Given the description of an element on the screen output the (x, y) to click on. 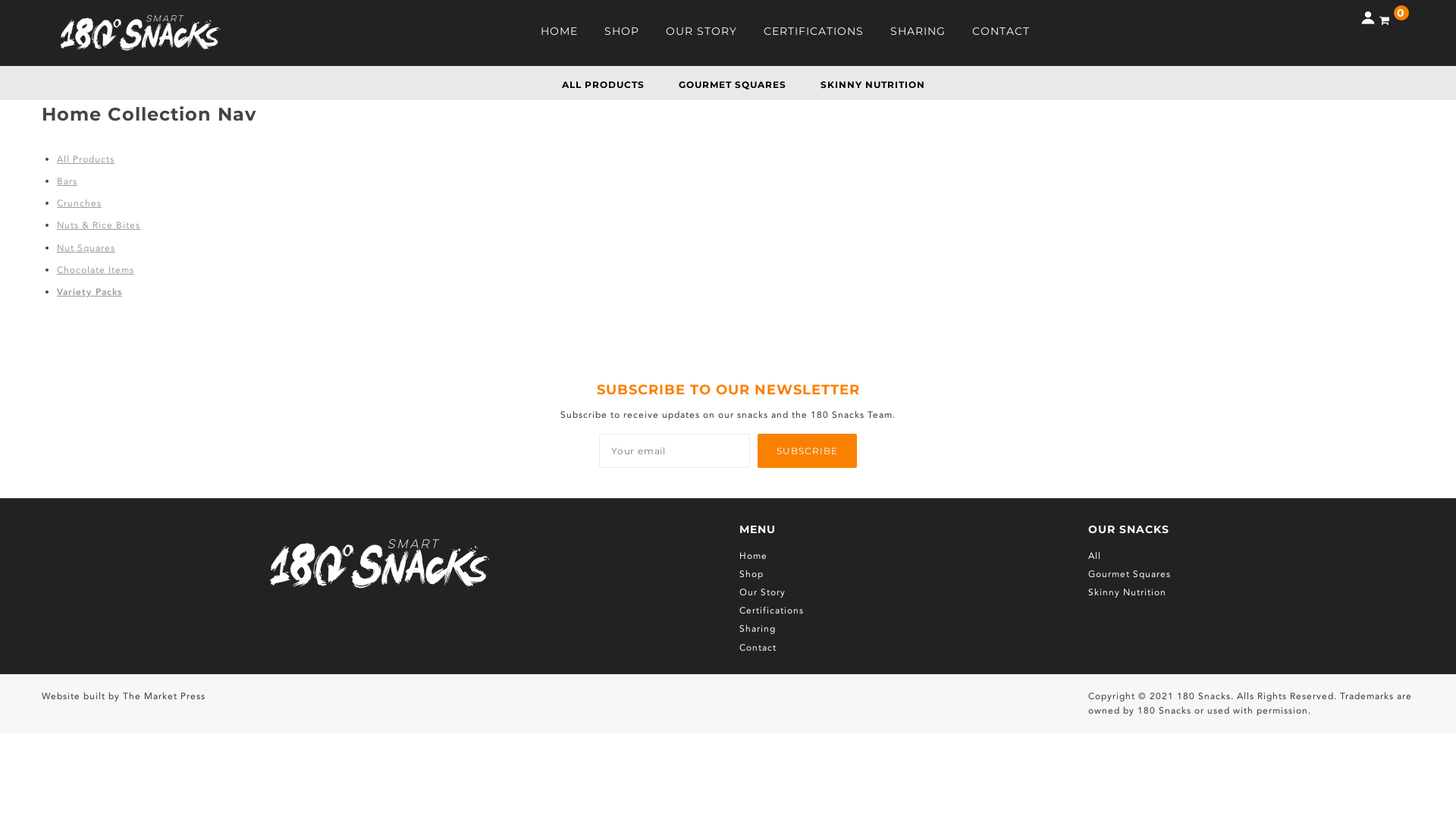
Gourmet Squares Element type: text (1129, 573)
GOURMET SQUARES Element type: text (731, 84)
Shop Element type: text (751, 573)
CONTACT Element type: text (1000, 36)
SHOP Element type: text (621, 36)
180 Snacks, Inc. / Mareblu Naturals  Element type: hover (139, 32)
Nut Squares Element type: text (85, 247)
Crunches Element type: text (78, 203)
Our Story Element type: text (762, 592)
All Products Element type: text (85, 159)
Home Element type: text (753, 555)
Nuts & Rice Bites Element type: text (98, 225)
All Element type: text (1094, 555)
Sharing Element type: text (757, 628)
The Market Press Element type: text (163, 696)
CERTIFICATIONS Element type: text (813, 36)
Contact Element type: text (757, 647)
HOME Element type: text (559, 36)
Skinny Nutrition Element type: text (1127, 592)
Bars Element type: text (66, 181)
Certifications Element type: text (771, 610)
Chocolate Items Element type: text (95, 269)
OUR STORY Element type: text (701, 36)
SKINNY NUTRITION Element type: text (872, 84)
SHARING Element type: text (917, 36)
Variety Packs Element type: text (89, 291)
SUBSCRIBE Element type: text (806, 450)
ALL PRODUCTS Element type: text (602, 84)
0 Element type: text (1393, 20)
